Given the description of an element on the screen output the (x, y) to click on. 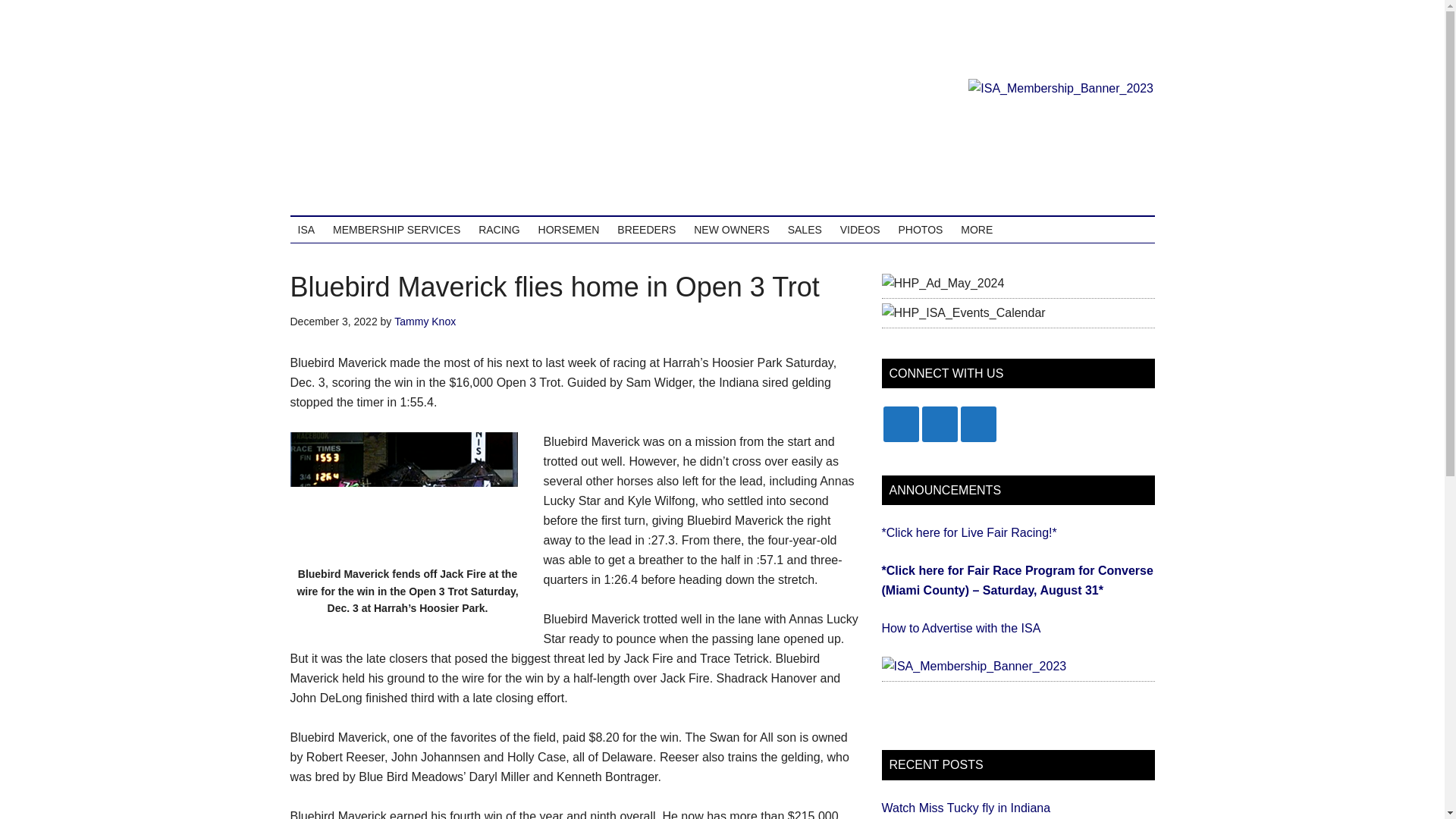
ISA (305, 229)
Indiana Harness (433, 131)
RACING (498, 229)
MEMBERSHIP SERVICES (395, 229)
